Given the description of an element on the screen output the (x, y) to click on. 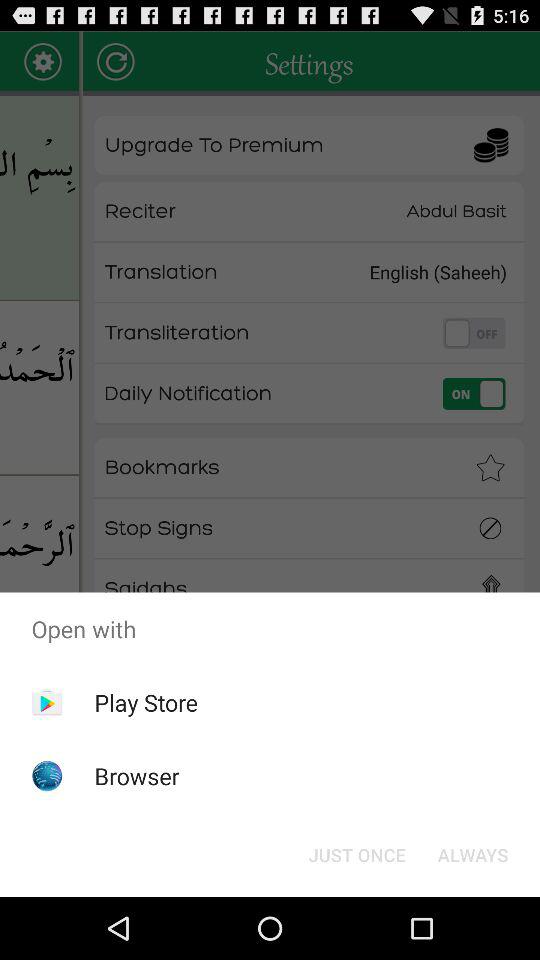
turn on app above the browser (146, 702)
